Given the description of an element on the screen output the (x, y) to click on. 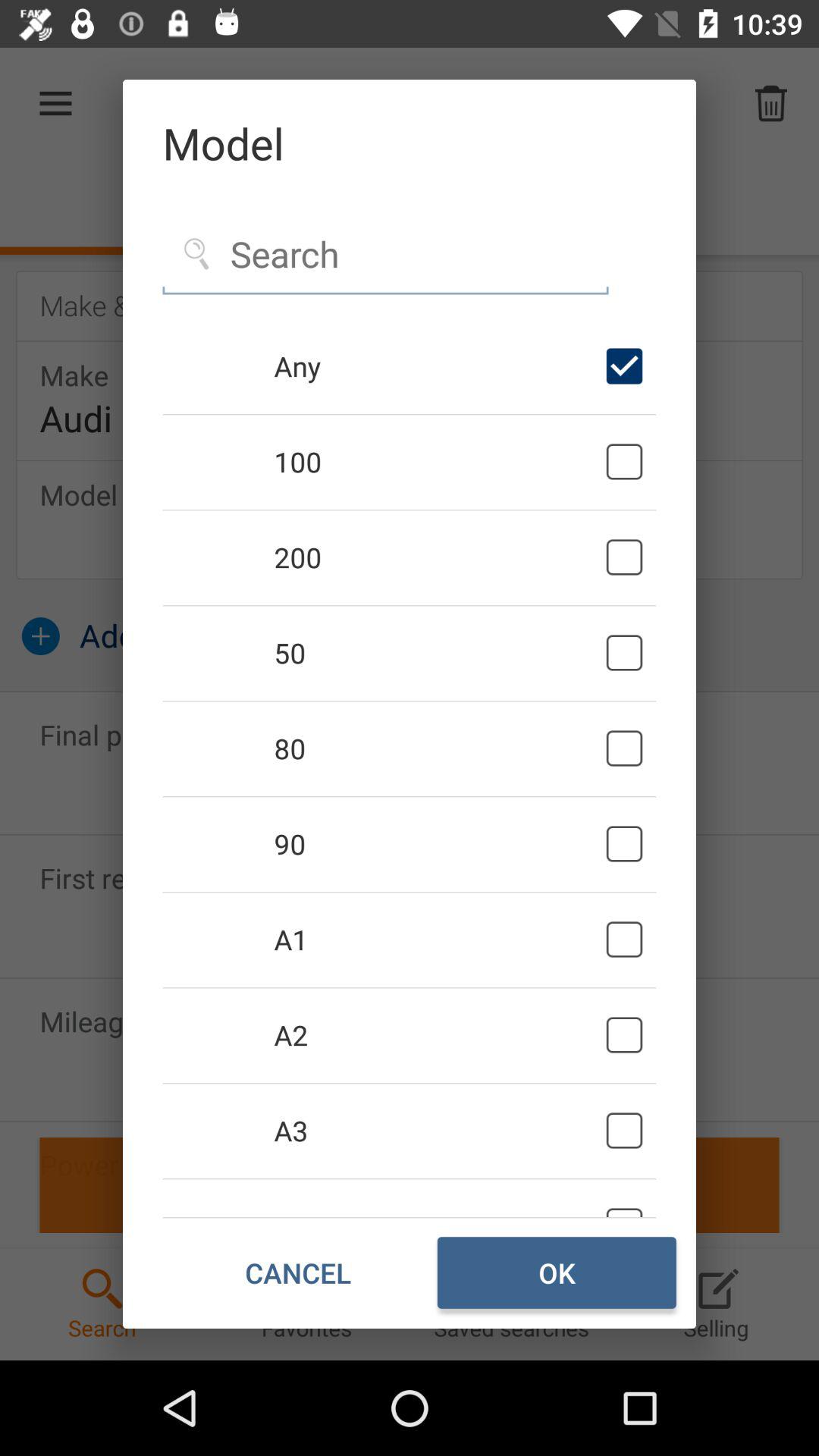
select the icon above the a4 item (437, 1130)
